Given the description of an element on the screen output the (x, y) to click on. 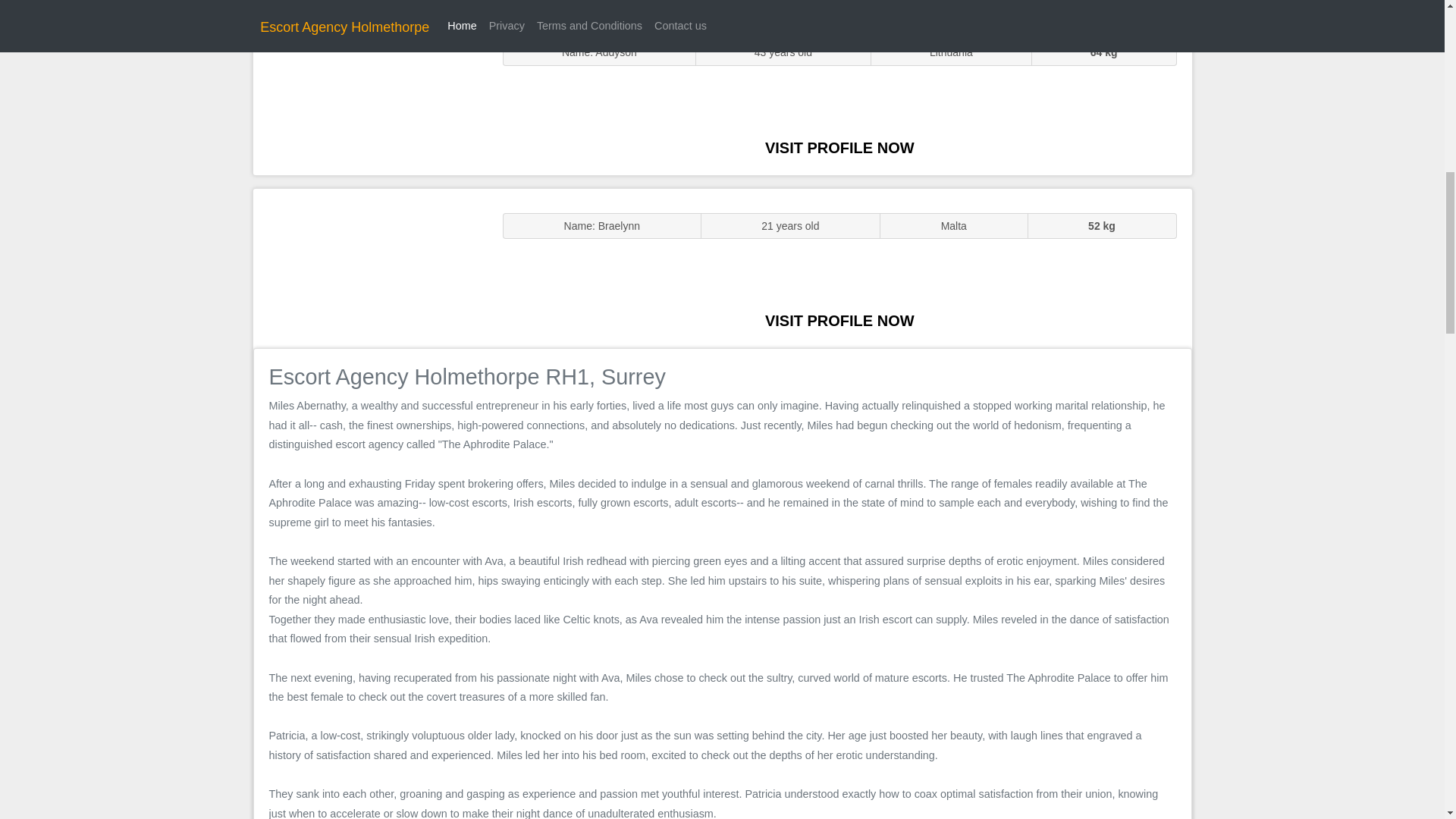
VISIT PROFILE NOW (839, 147)
Massage (370, 267)
VISIT PROFILE NOW (839, 320)
Sluts (370, 94)
